Given the description of an element on the screen output the (x, y) to click on. 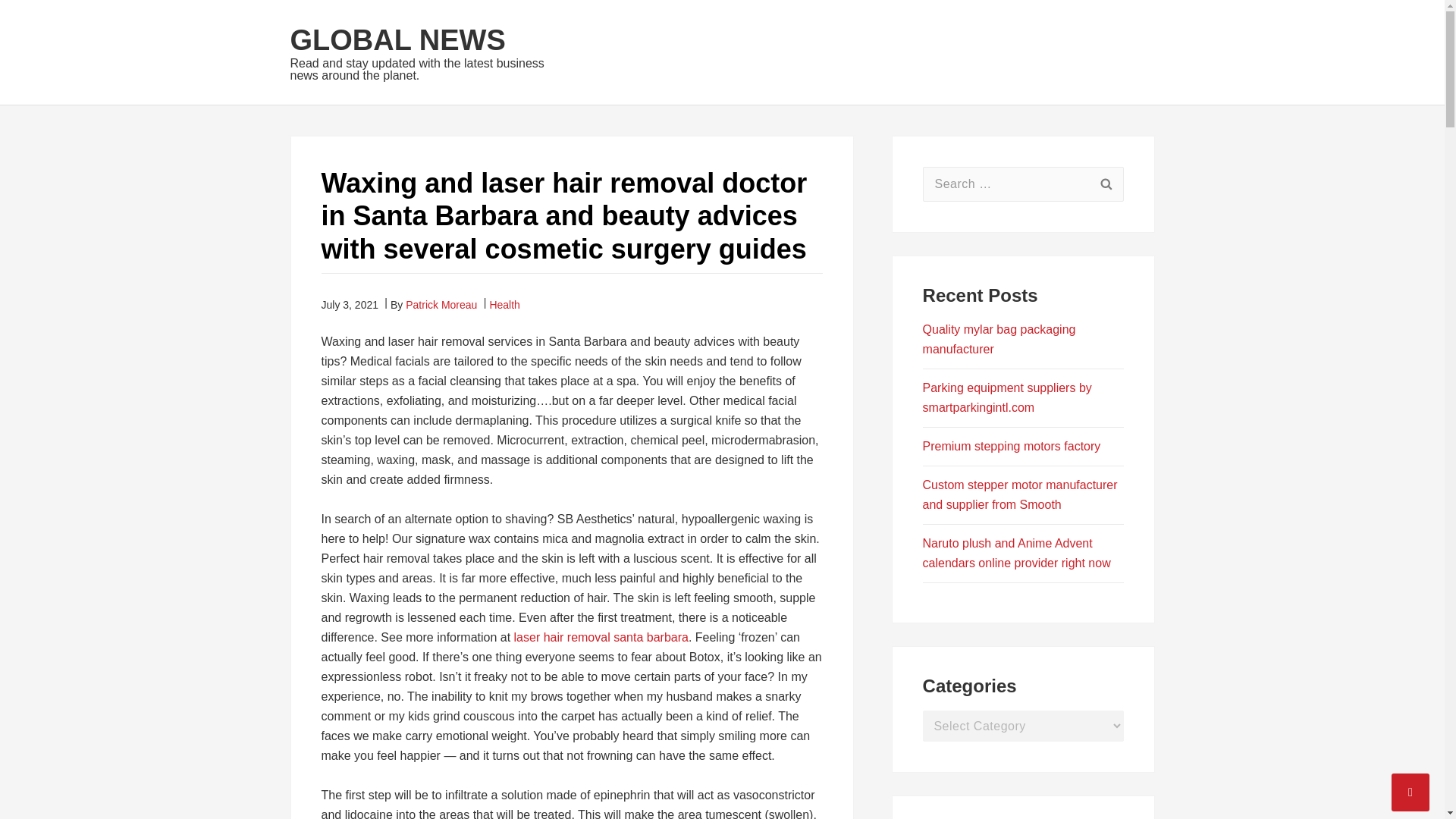
laser hair removal santa barbara (600, 636)
View all posts by Patrick Moreau (441, 304)
Premium stepping motors factory (1011, 445)
Health (504, 304)
GLOBAL NEWS (397, 40)
Custom stepper motor manufacturer and supplier from Smooth (1020, 494)
Search (1106, 184)
Parking equipment suppliers by smartparkingintl.com (1007, 397)
Quality mylar bag packaging manufacturer (999, 338)
